Given the description of an element on the screen output the (x, y) to click on. 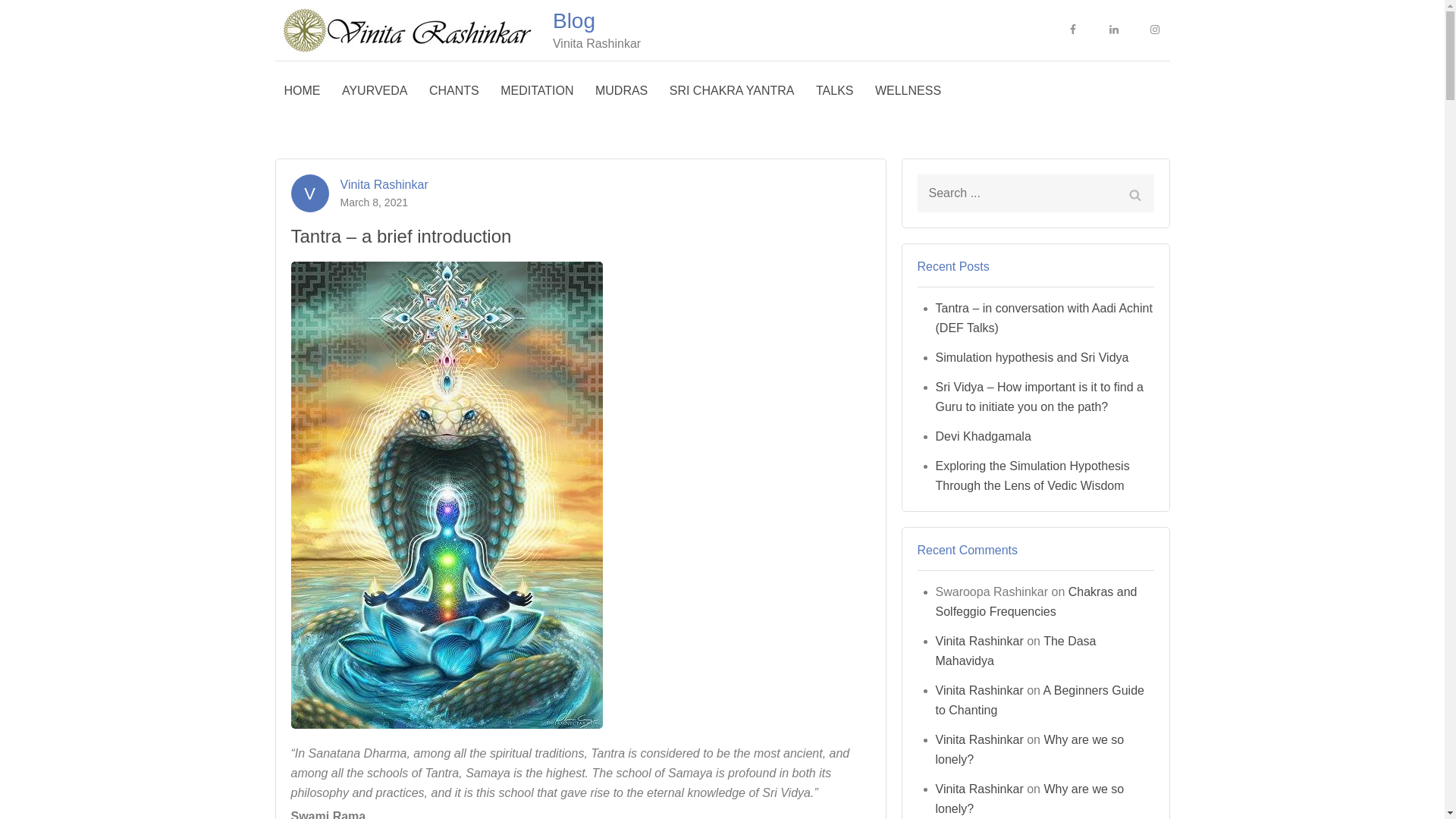
Linkedin (1112, 30)
SRI CHAKRA YANTRA (732, 90)
Facebook (1072, 30)
Instagram (1153, 30)
TALKS (834, 90)
AYURVEDA (374, 90)
Vinita Rashinkar (383, 182)
Blog (574, 20)
MEDITATION (537, 90)
MUDRAS (621, 90)
